Given the description of an element on the screen output the (x, y) to click on. 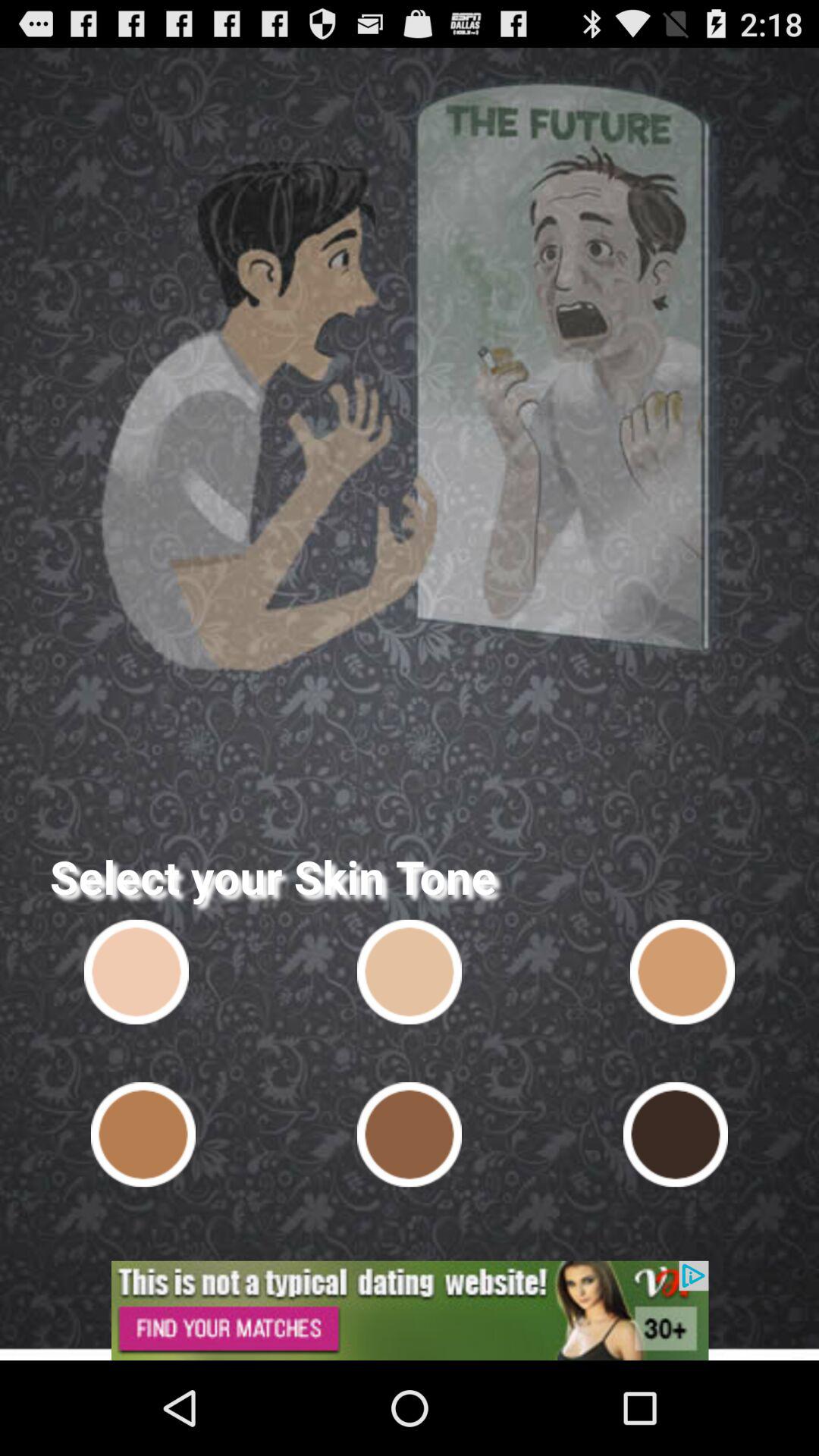
open advertisement (409, 1310)
